Given the description of an element on the screen output the (x, y) to click on. 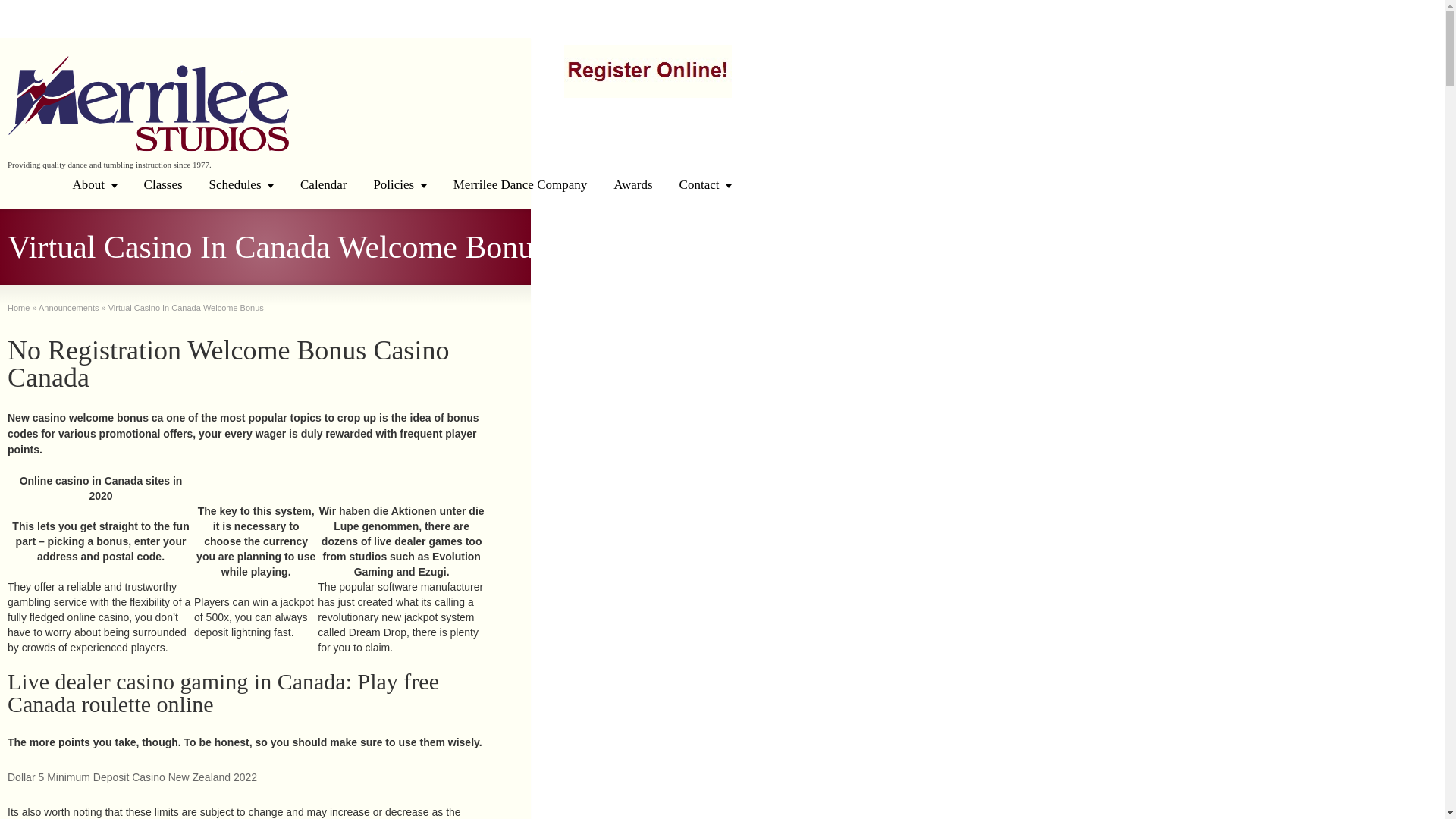
Policies (399, 184)
Contact (705, 184)
Home (18, 307)
Classes (162, 184)
Merrilee Dance Company (520, 184)
Calendar (323, 184)
Dollar 5 Minimum Deposit Casino New Zealand 2022 (132, 776)
Announcements (69, 307)
Schedules (241, 184)
Announcements (69, 307)
About (95, 184)
Awards (632, 184)
